Given the description of an element on the screen output the (x, y) to click on. 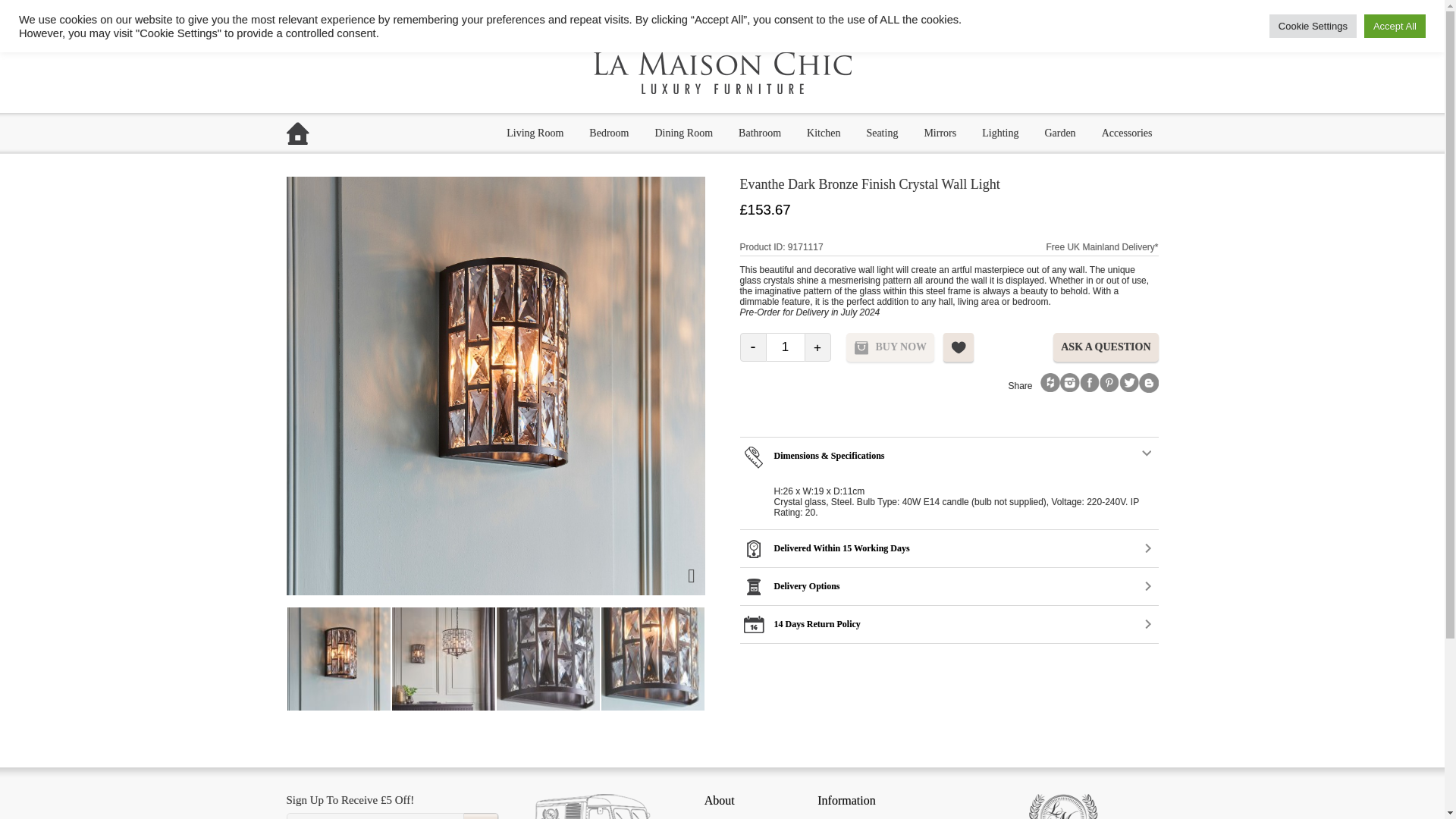
View your shopping cart (1067, 15)
Evanthe Bronze Crystal Wall Light (234, 658)
Search.. (954, 15)
1 (784, 346)
Search.. (954, 15)
Sign up (480, 816)
